Given the description of an element on the screen output the (x, y) to click on. 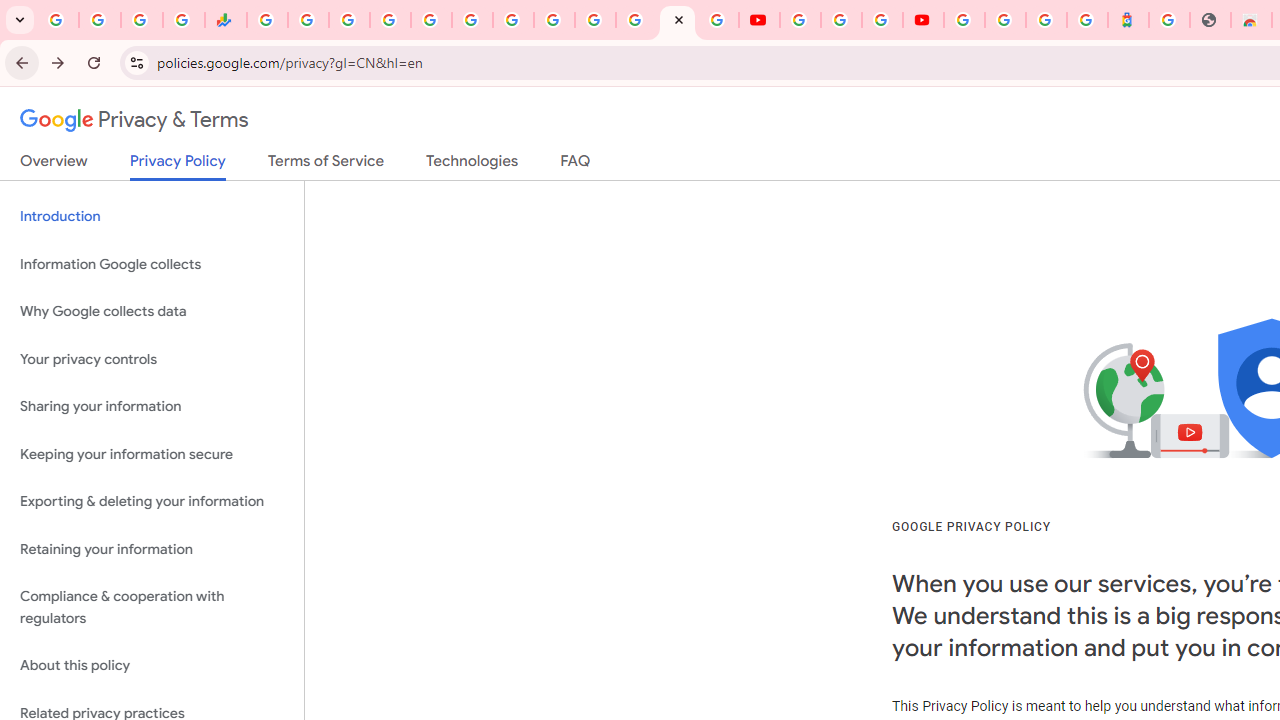
Google Workspace Admin Community (58, 20)
Sign in - Google Accounts (389, 20)
FAQ (575, 165)
Sign in - Google Accounts (1005, 20)
Android TV Policies and Guidelines - Transparency Center (512, 20)
Technologies (472, 165)
About this policy (152, 666)
Google Account Help (840, 20)
Atour Hotel - Google hotels (1128, 20)
